Given the description of an element on the screen output the (x, y) to click on. 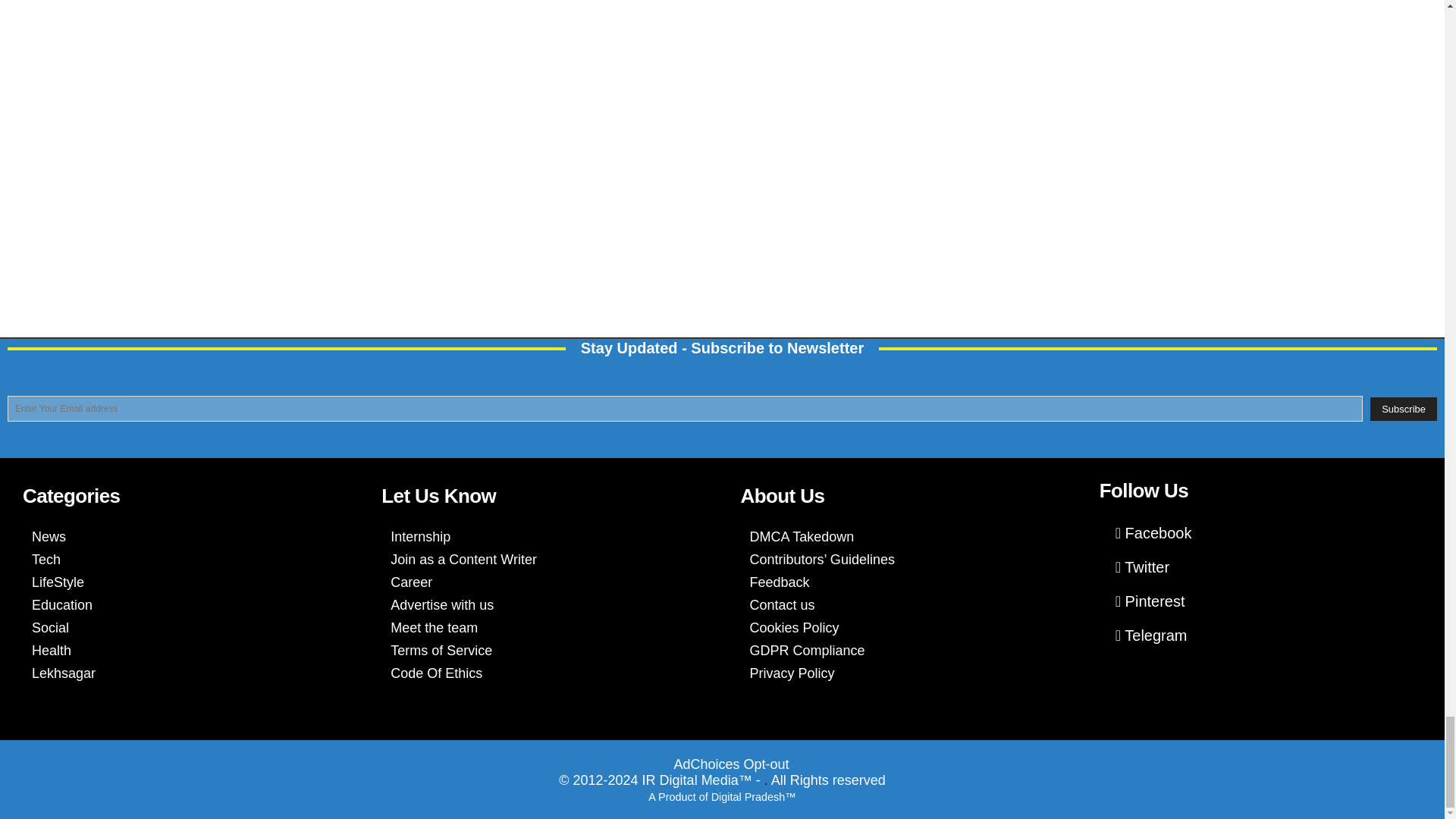
Subscribe (1403, 408)
